Given the description of an element on the screen output the (x, y) to click on. 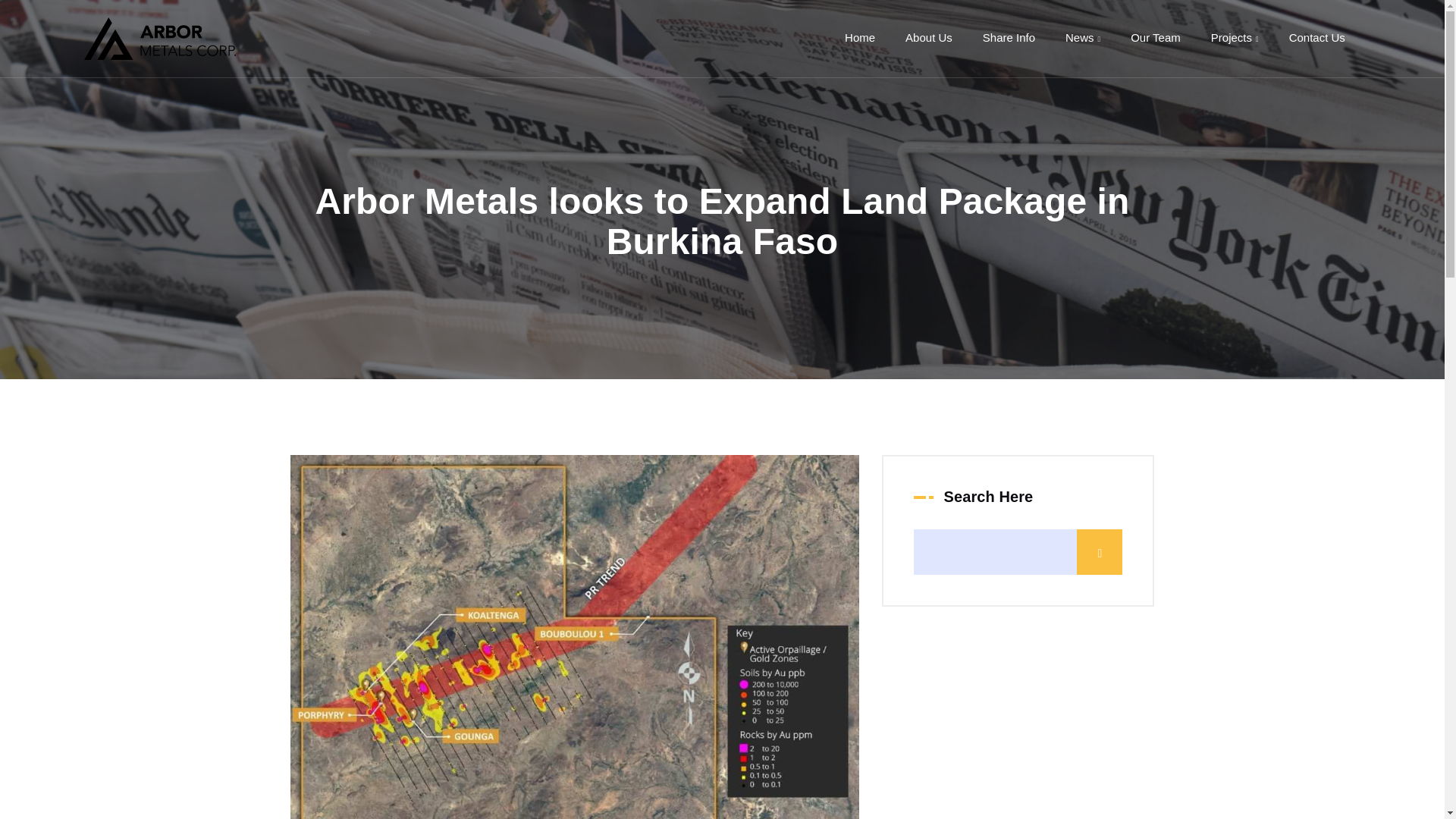
Contact Us (1316, 38)
Share Info (1008, 38)
Projects (1234, 38)
About Us (928, 38)
Our Team (1155, 38)
